Given the description of an element on the screen output the (x, y) to click on. 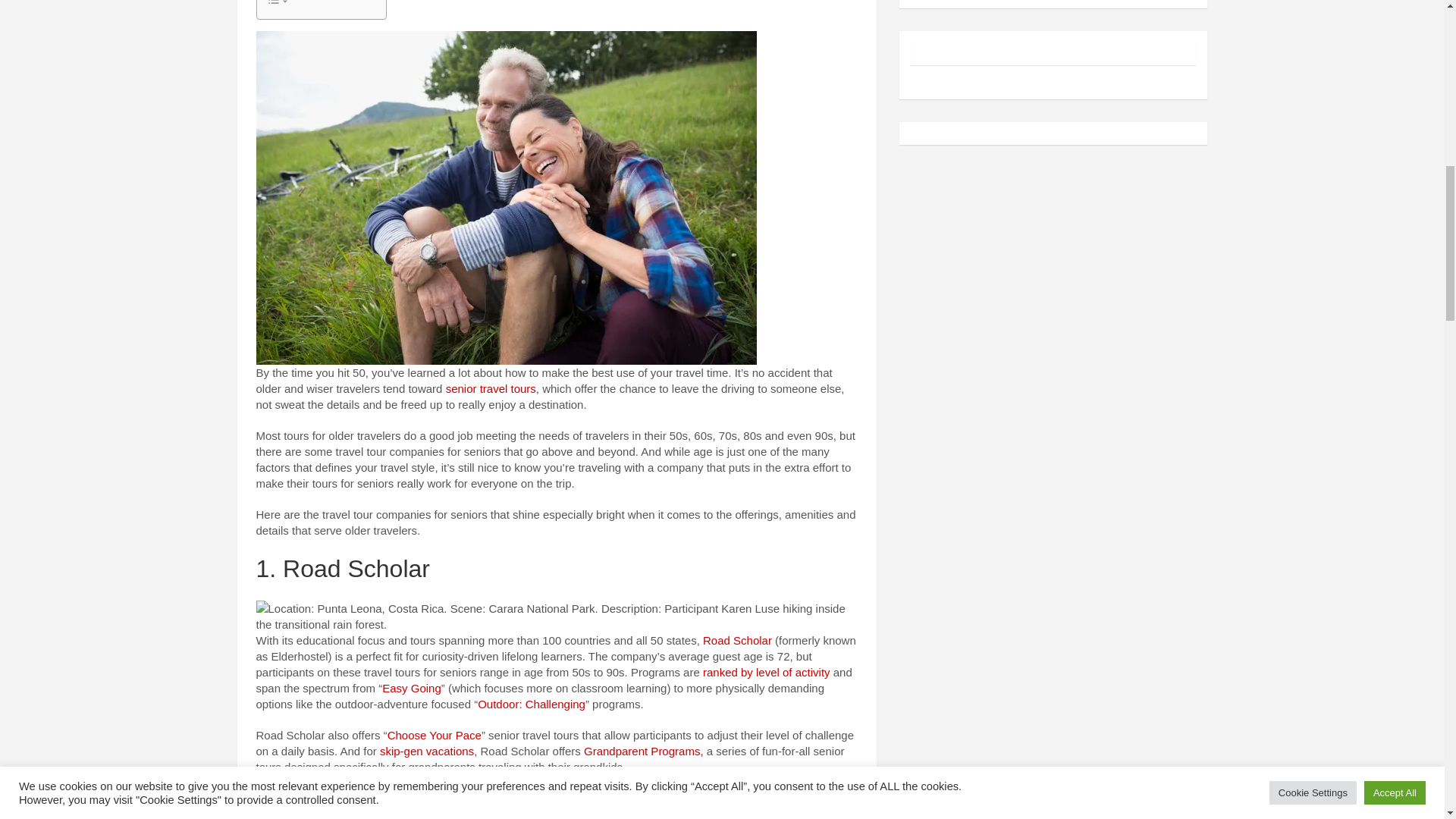
Choose Your Pace (434, 735)
skip-gen vacations (427, 750)
ranked by level of activity (766, 671)
Easy Going (411, 687)
How much travel insurance do you actually need? (523, 797)
senior travel tours (490, 388)
Outdoor: Challenging (531, 703)
Grandparent Programs, (643, 750)
Road Scholar (737, 640)
